Given the description of an element on the screen output the (x, y) to click on. 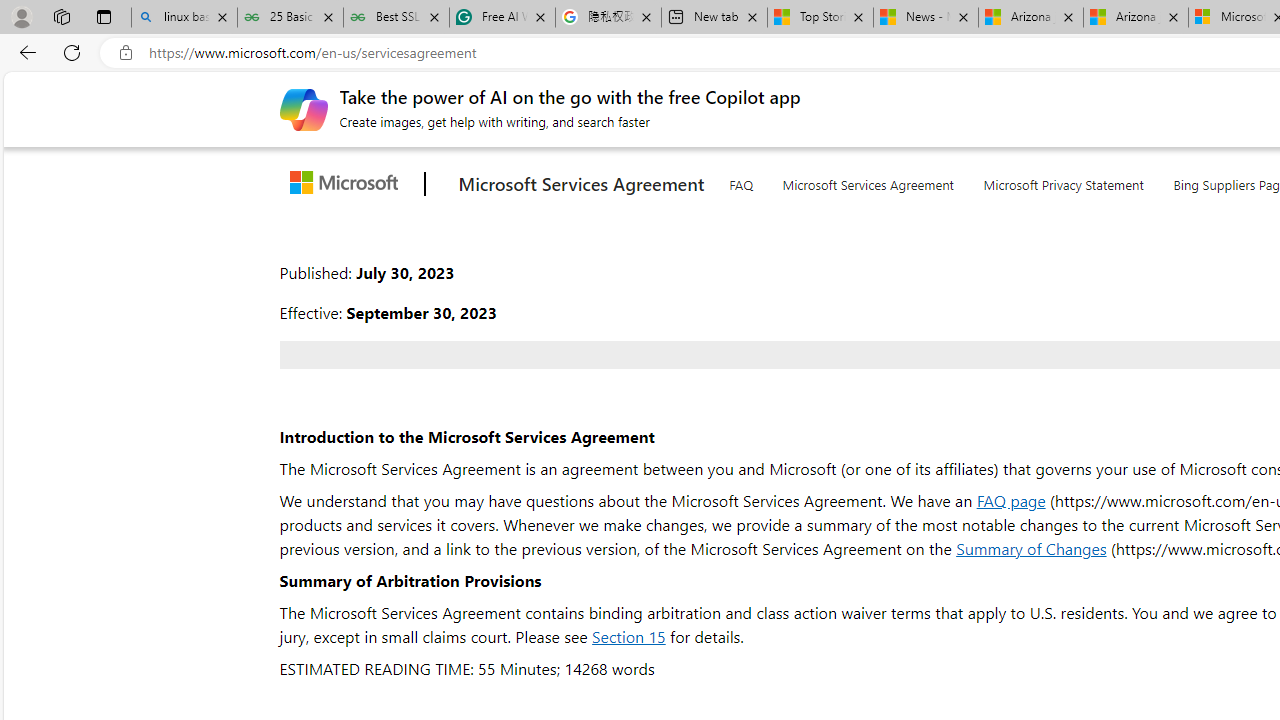
Create images, get help with writing, and search faster (303, 108)
25 Basic Linux Commands For Beginners - GeeksforGeeks (290, 17)
Free AI Writing Assistance for Students | Grammarly (502, 17)
News - MSN (925, 17)
FAQ (740, 180)
linux basic - Search (183, 17)
Best SSL Certificates Provider in India - GeeksforGeeks (396, 17)
